Given the description of an element on the screen output the (x, y) to click on. 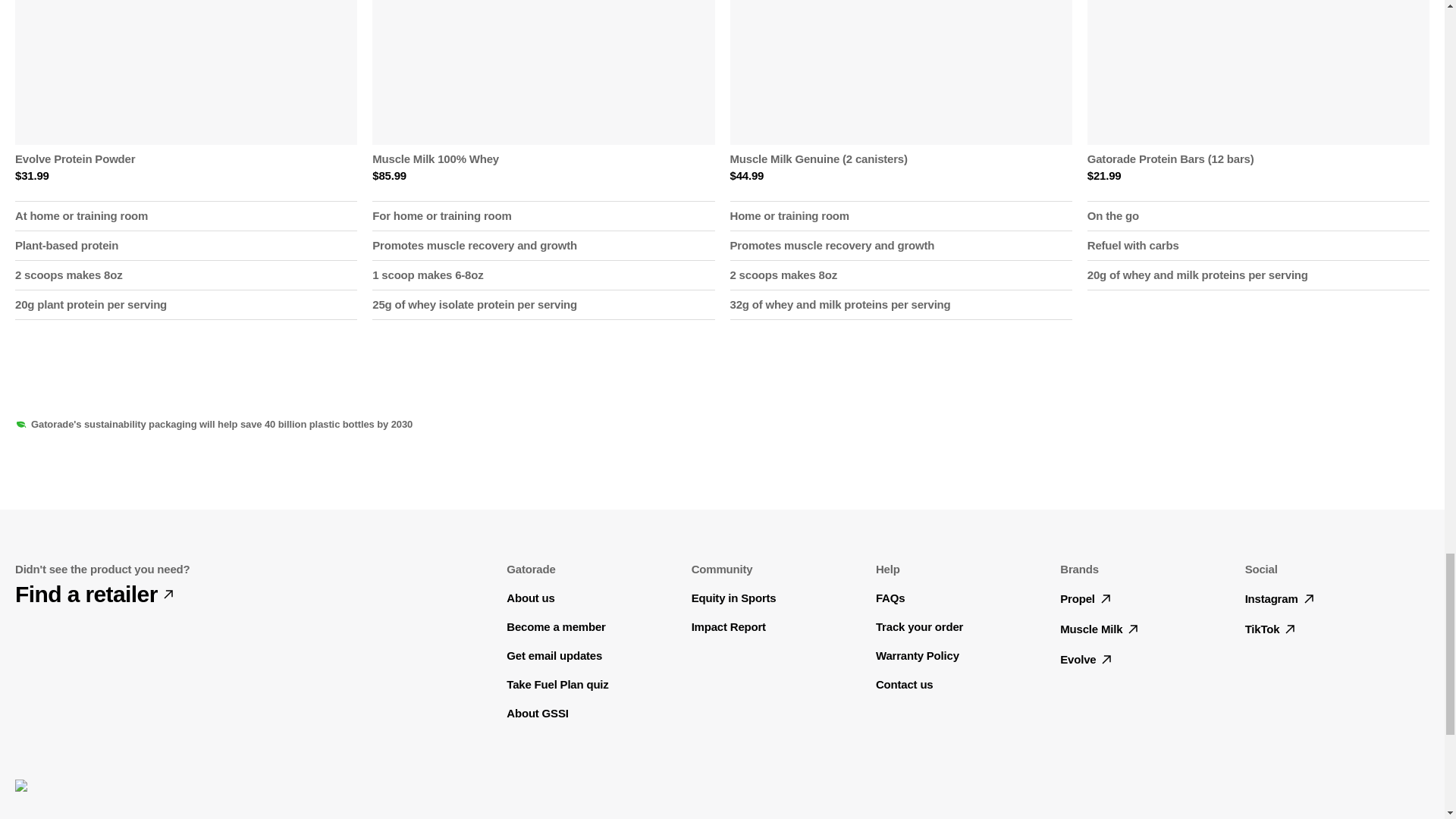
Evolve Protein Powder (181, 159)
